Given the description of an element on the screen output the (x, y) to click on. 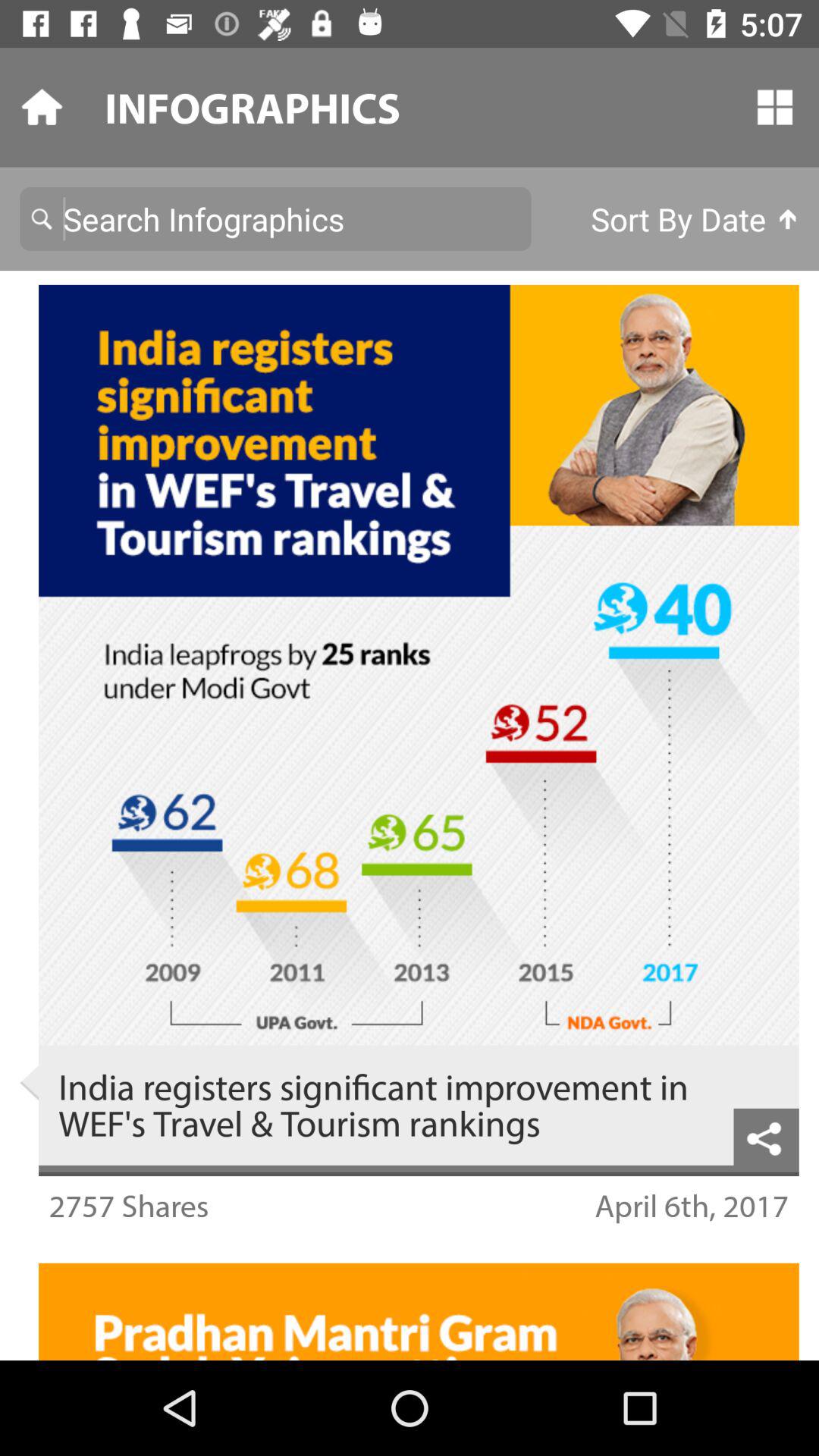
search bar (275, 218)
